Given the description of an element on the screen output the (x, y) to click on. 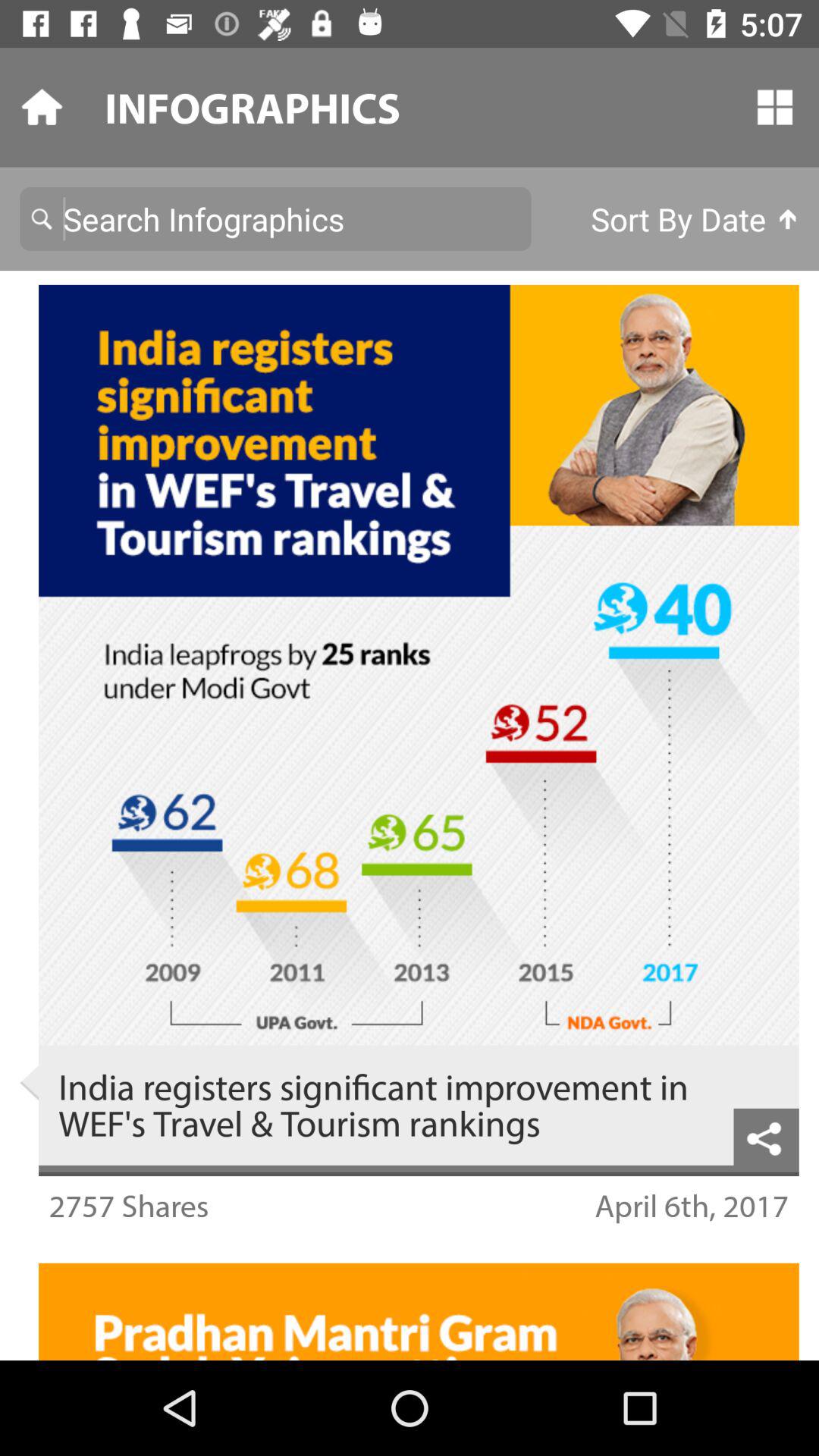
search bar (275, 218)
